Given the description of an element on the screen output the (x, y) to click on. 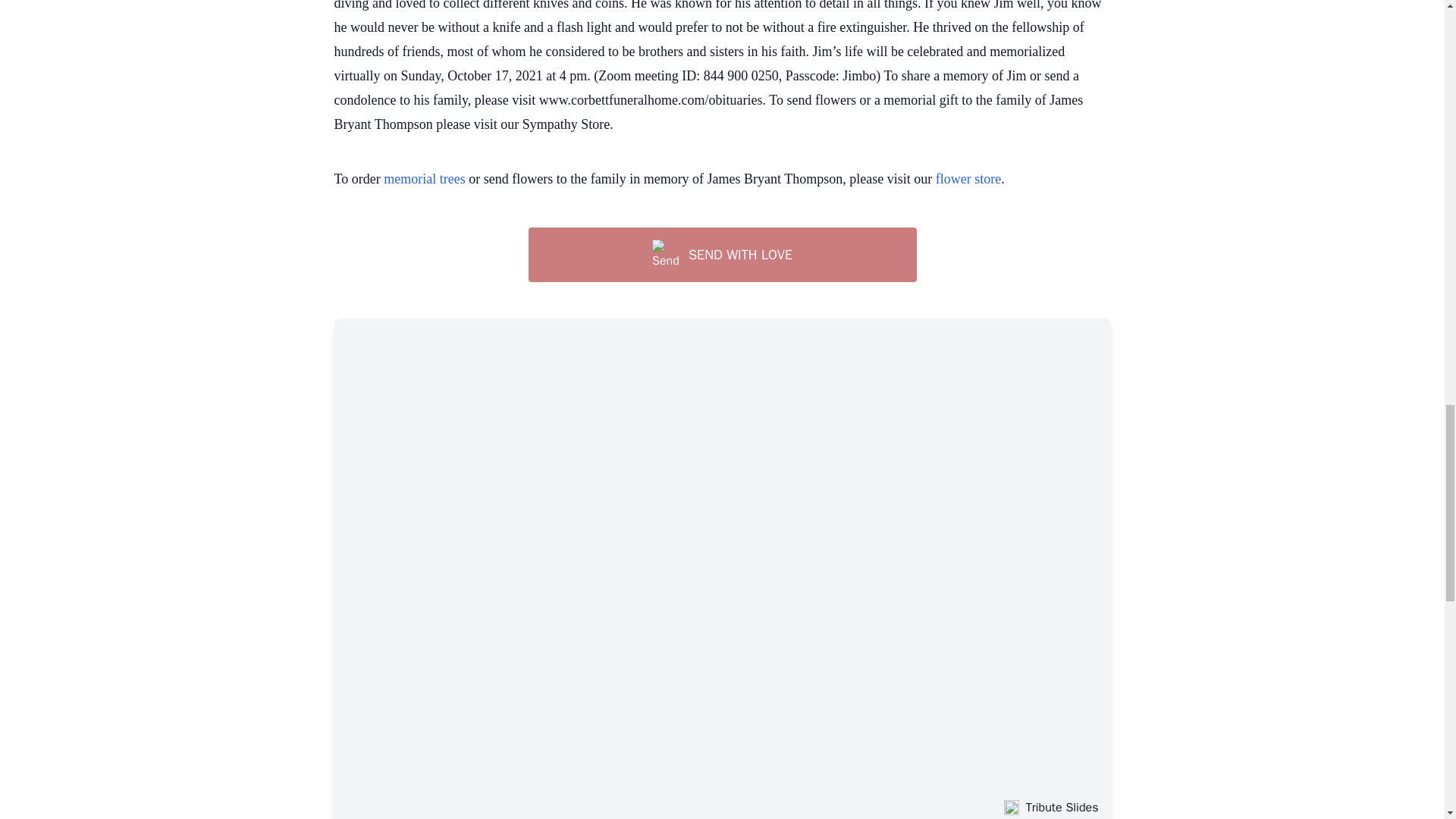
memorial trees (424, 178)
SEND WITH LOVE (721, 254)
flower store (968, 178)
